Given the description of an element on the screen output the (x, y) to click on. 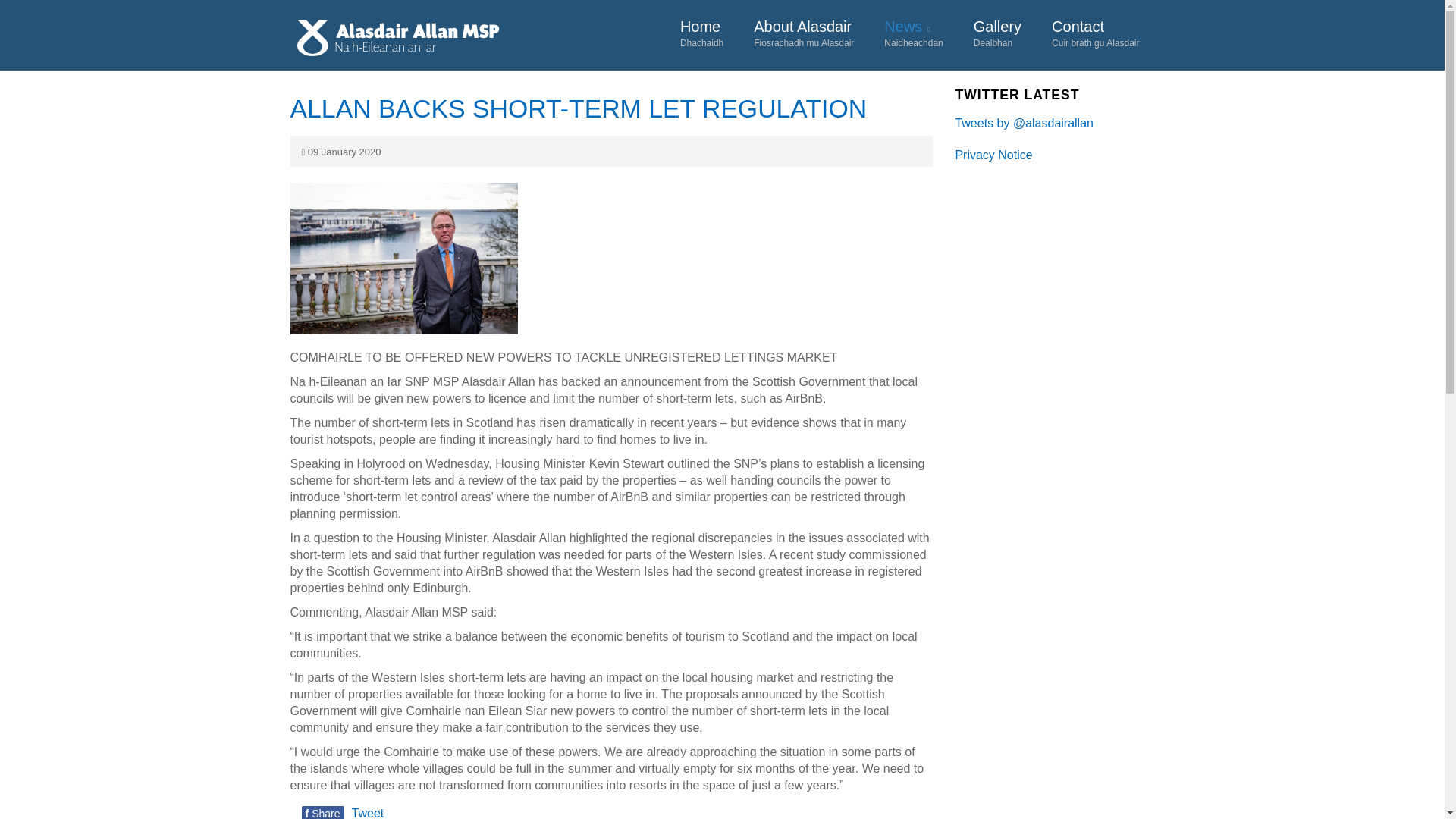
Tweet (803, 34)
ALLAN BACKS SHORT-TERM LET REGULATION (368, 812)
Stronger for Scotland (577, 108)
Dealbhan (478, 37)
fShare (701, 34)
Dhachaidh (1095, 34)
Cuir brath gu Alasdair (997, 34)
Naidheachdan (322, 812)
Privacy Notice (701, 34)
Fiosrachadh mu Alasdair (1095, 34)
